Given the description of an element on the screen output the (x, y) to click on. 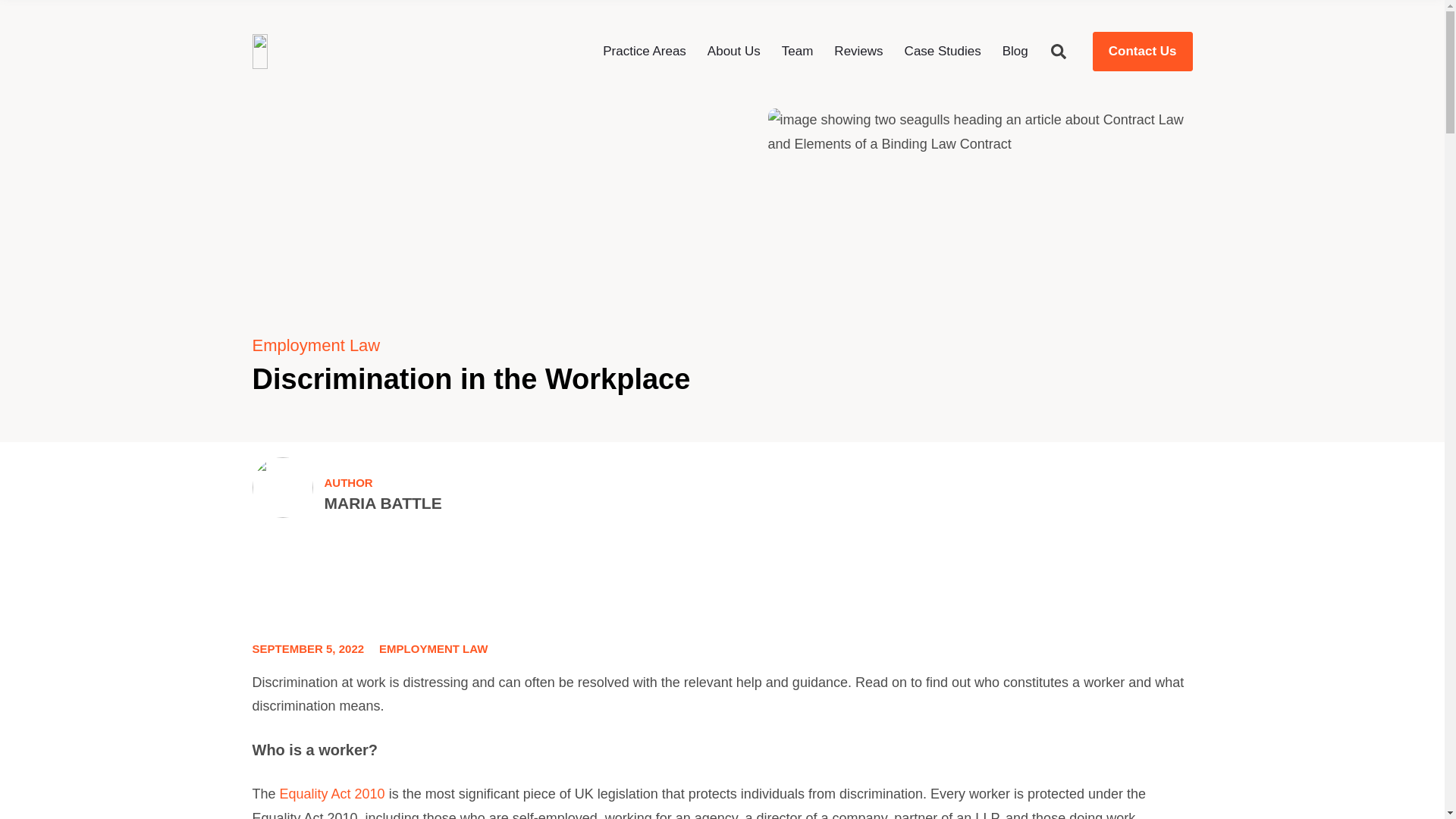
Reviews (858, 51)
Blog (1015, 51)
Case Studies (942, 51)
About Us (733, 51)
Contact Us (1142, 51)
Team (797, 51)
Practice Areas (643, 51)
